Given the description of an element on the screen output the (x, y) to click on. 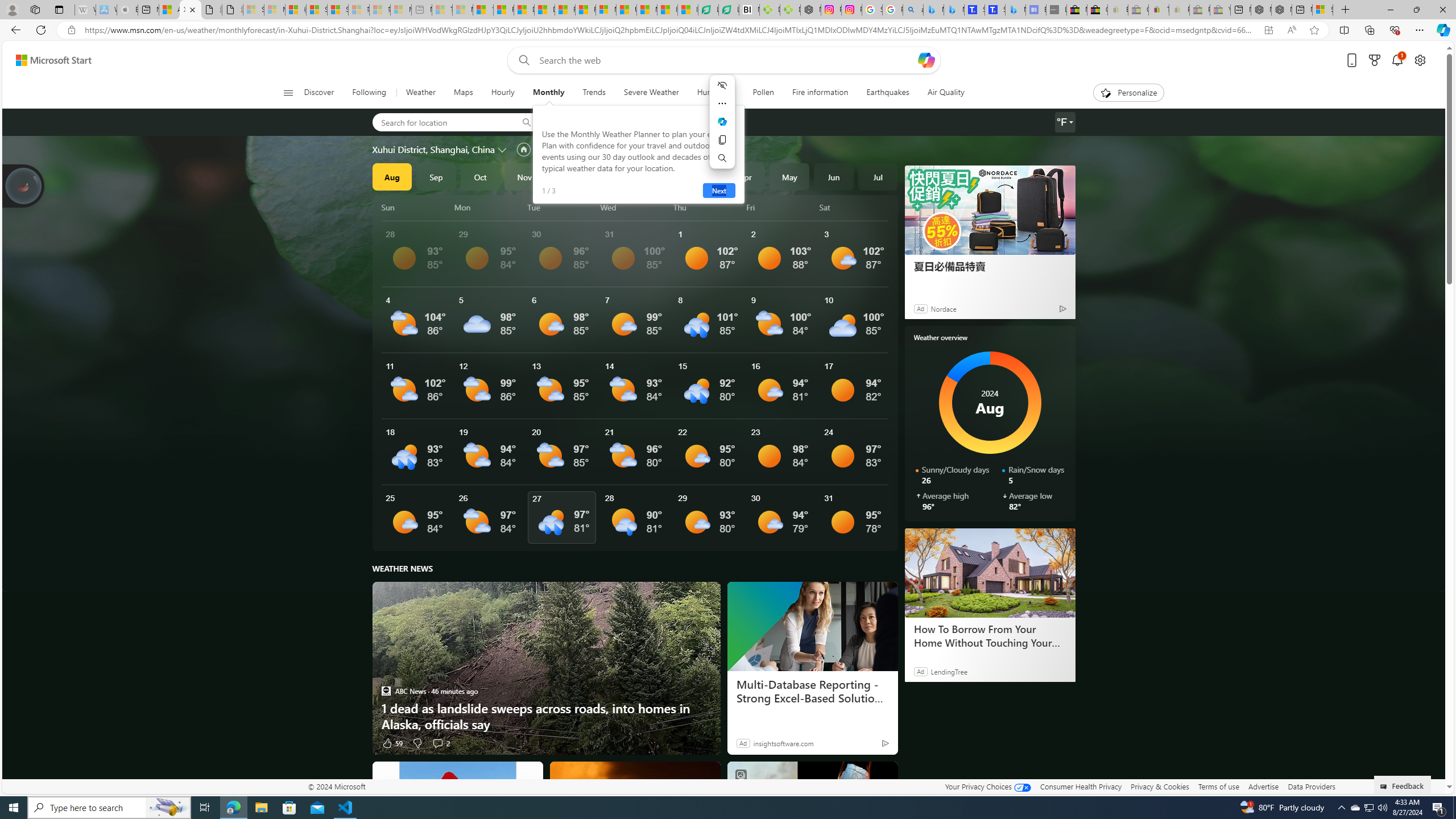
Aberdeen (576, 121)
Trends (593, 92)
Jun (833, 176)
Your Privacy Choices (987, 786)
ABC News (385, 690)
App available. Install Microsoft Start Weather (1268, 29)
Nov (523, 176)
Terms of use (1218, 786)
